Given the description of an element on the screen output the (x, y) to click on. 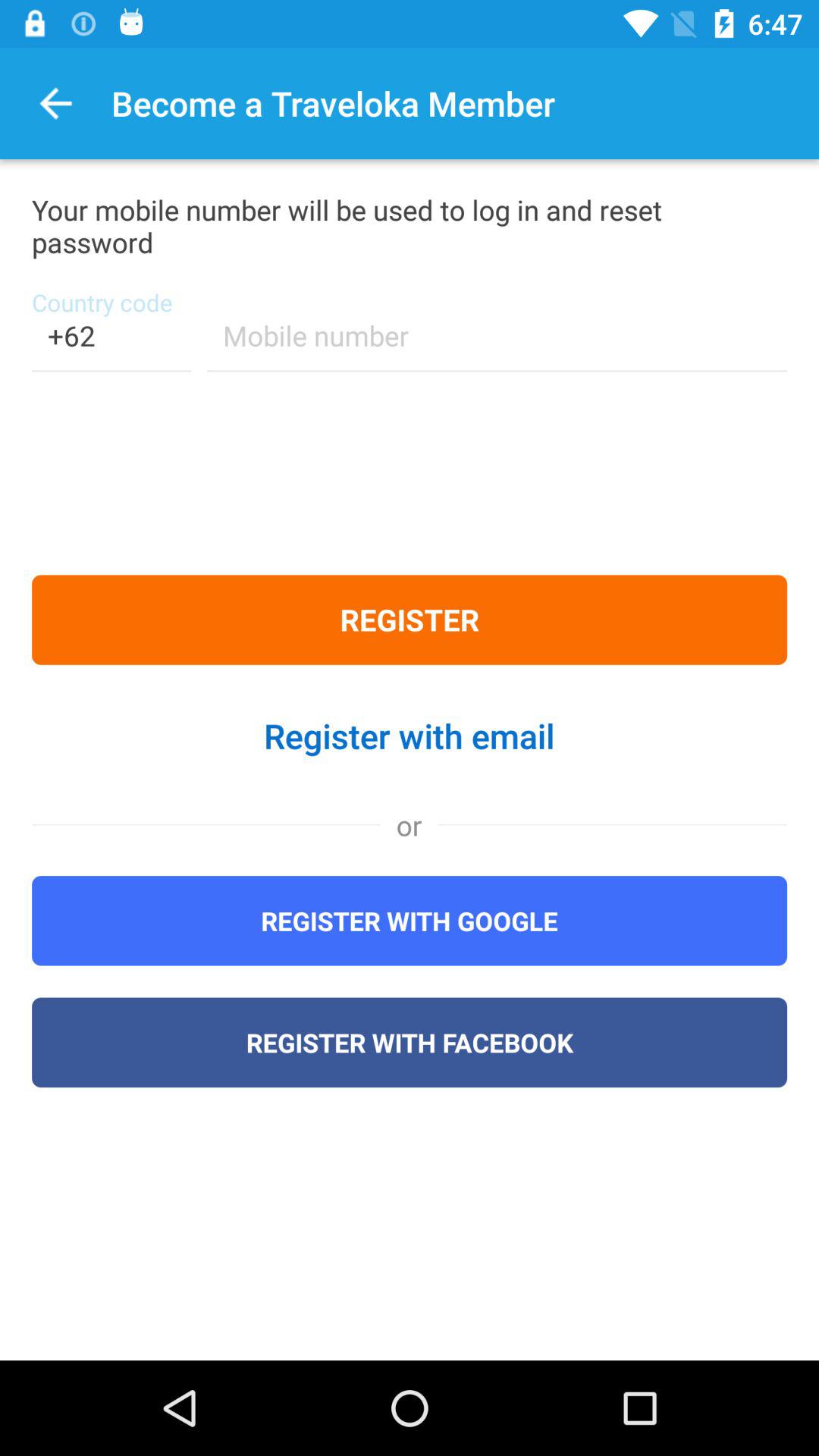
select the item above the register icon (497, 345)
